Given the description of an element on the screen output the (x, y) to click on. 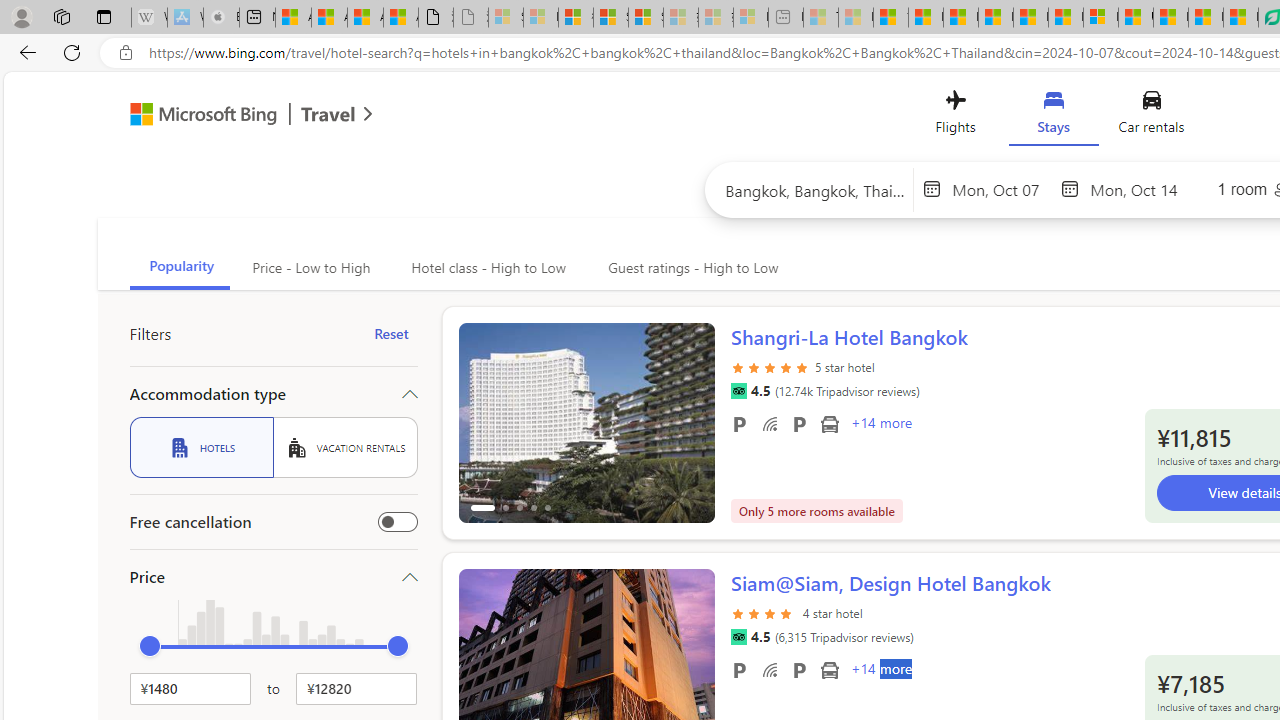
Top Stories - MSN - Sleeping (820, 17)
Hotel class - High to Low (485, 268)
Search hotels or place (815, 190)
Aberdeen, Hong Kong SAR severe weather | Microsoft Weather (401, 17)
